Given the description of an element on the screen output the (x, y) to click on. 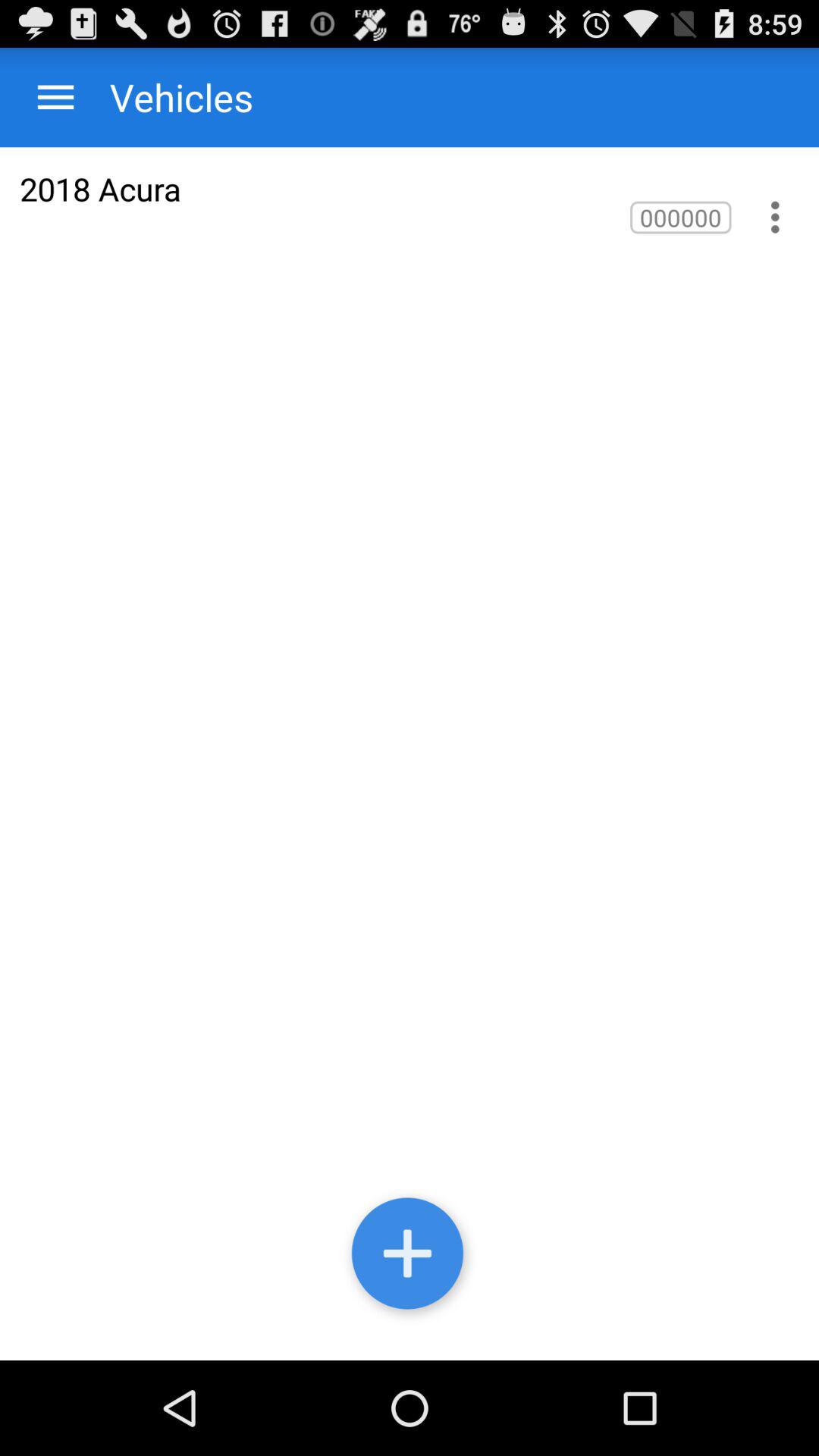
add record (409, 1256)
